Given the description of an element on the screen output the (x, y) to click on. 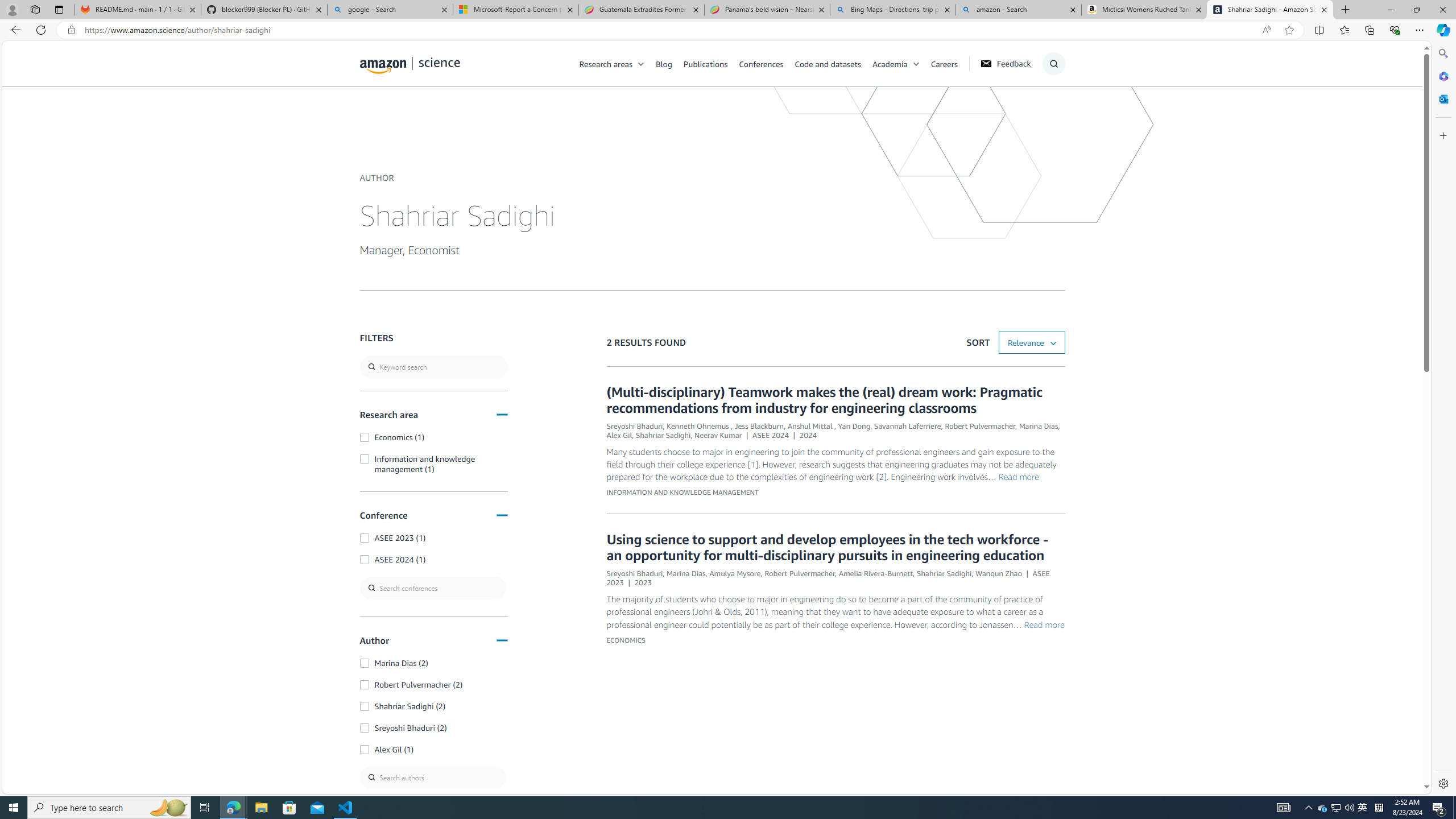
home page (409, 62)
Code and datasets (833, 63)
Microsoft-Report a Concern to Bing (515, 9)
ECONOMICS (625, 639)
Address and search bar (669, 29)
Shahriar Sadighi - Amazon Science (1270, 9)
Show Search Form (1053, 63)
Code and datasets (827, 63)
google - Search (389, 9)
App bar (728, 29)
